Given the description of an element on the screen output the (x, y) to click on. 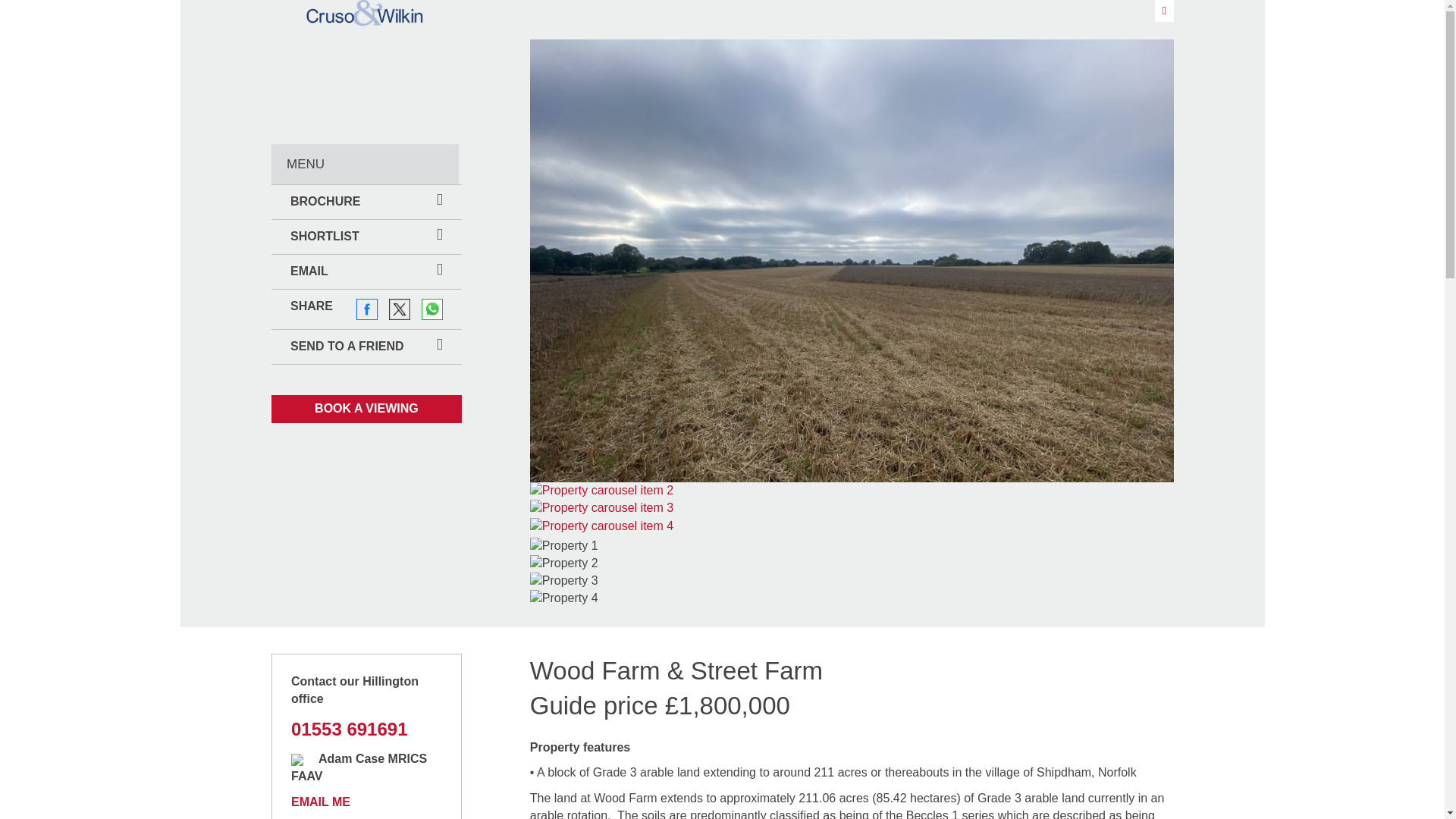
BROCHURE (365, 201)
SHORTLIST (365, 236)
Share on Twitter (399, 309)
Share on Facebook (366, 309)
FACEBOOK LOGO (366, 309)
01553 691691 (349, 729)
SEND TO A FRIEND (365, 346)
FACEBOOK LOGO (366, 309)
MENU (364, 164)
EMAIL (365, 271)
